Given the description of an element on the screen output the (x, y) to click on. 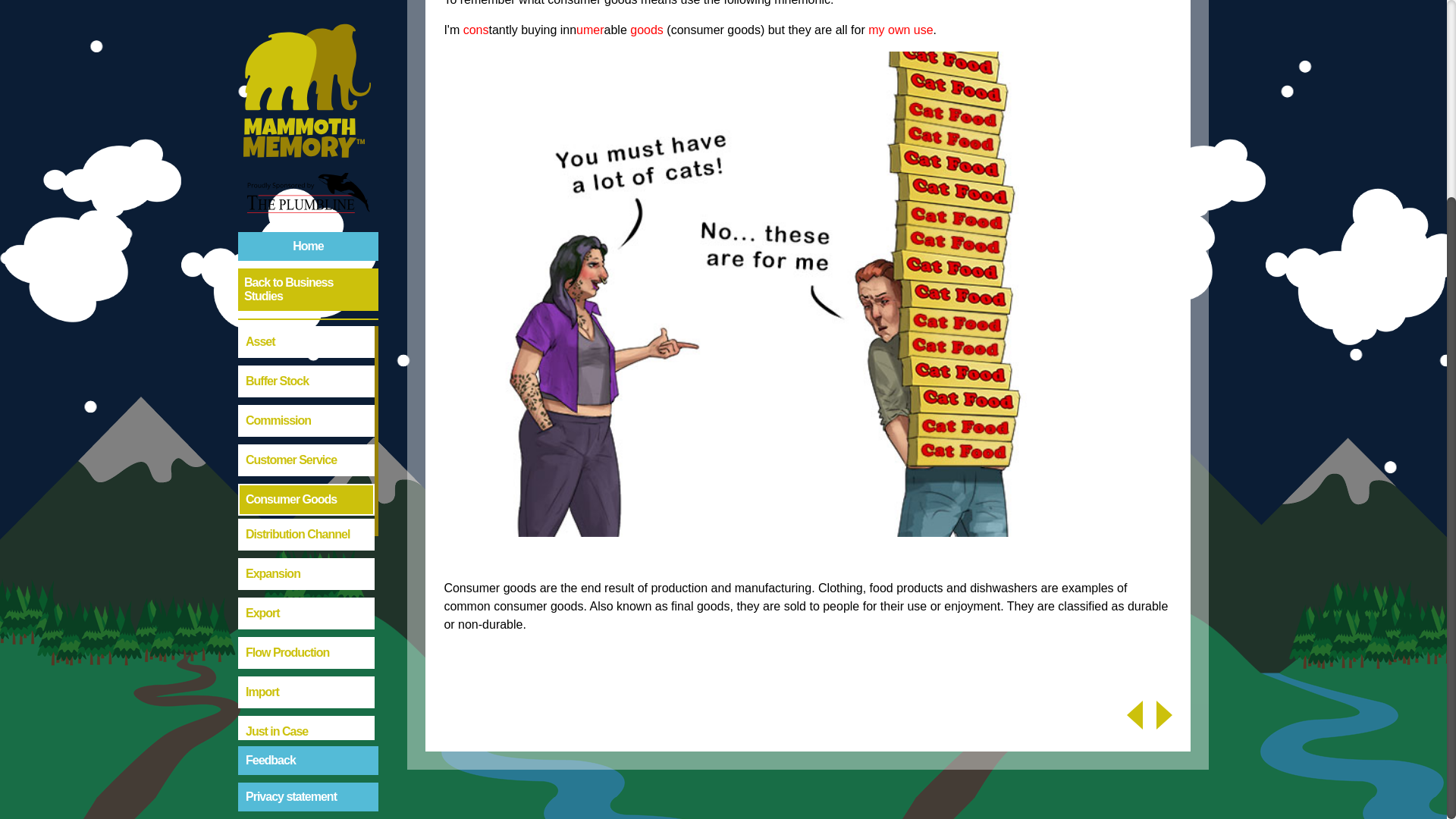
Distribution Channel (306, 275)
Expansion (306, 314)
Flow Production (306, 393)
Just in Case (306, 472)
Supply Chain (306, 787)
Back to Business Studies (308, 30)
Asset (306, 82)
Lean Production (306, 551)
Just in Time (306, 511)
Logistics (306, 590)
